Given the description of an element on the screen output the (x, y) to click on. 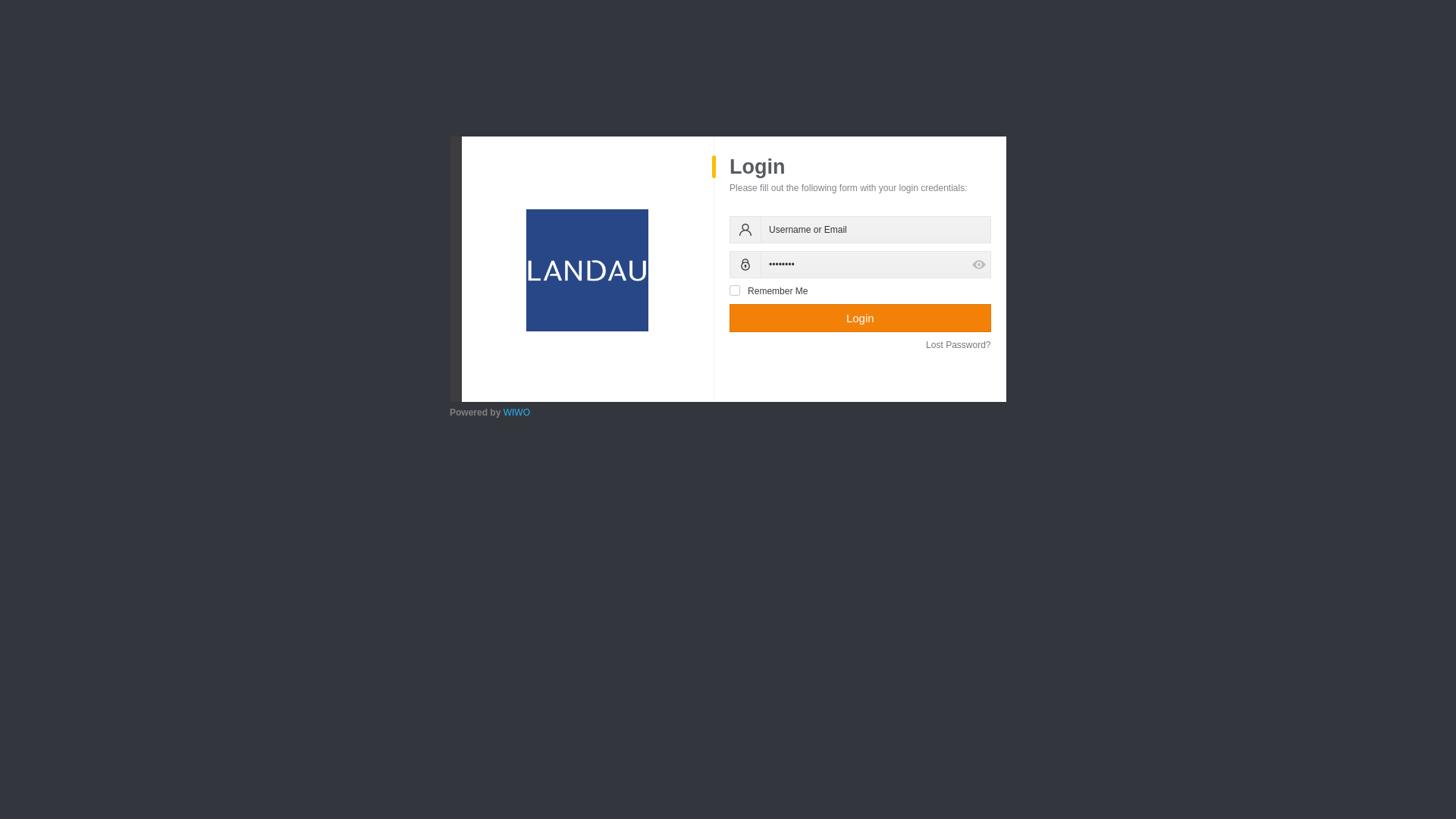
Login Element type: text (859, 318)
WIWO Element type: text (516, 412)
Lost Password? Element type: text (957, 344)
